Given the description of an element on the screen output the (x, y) to click on. 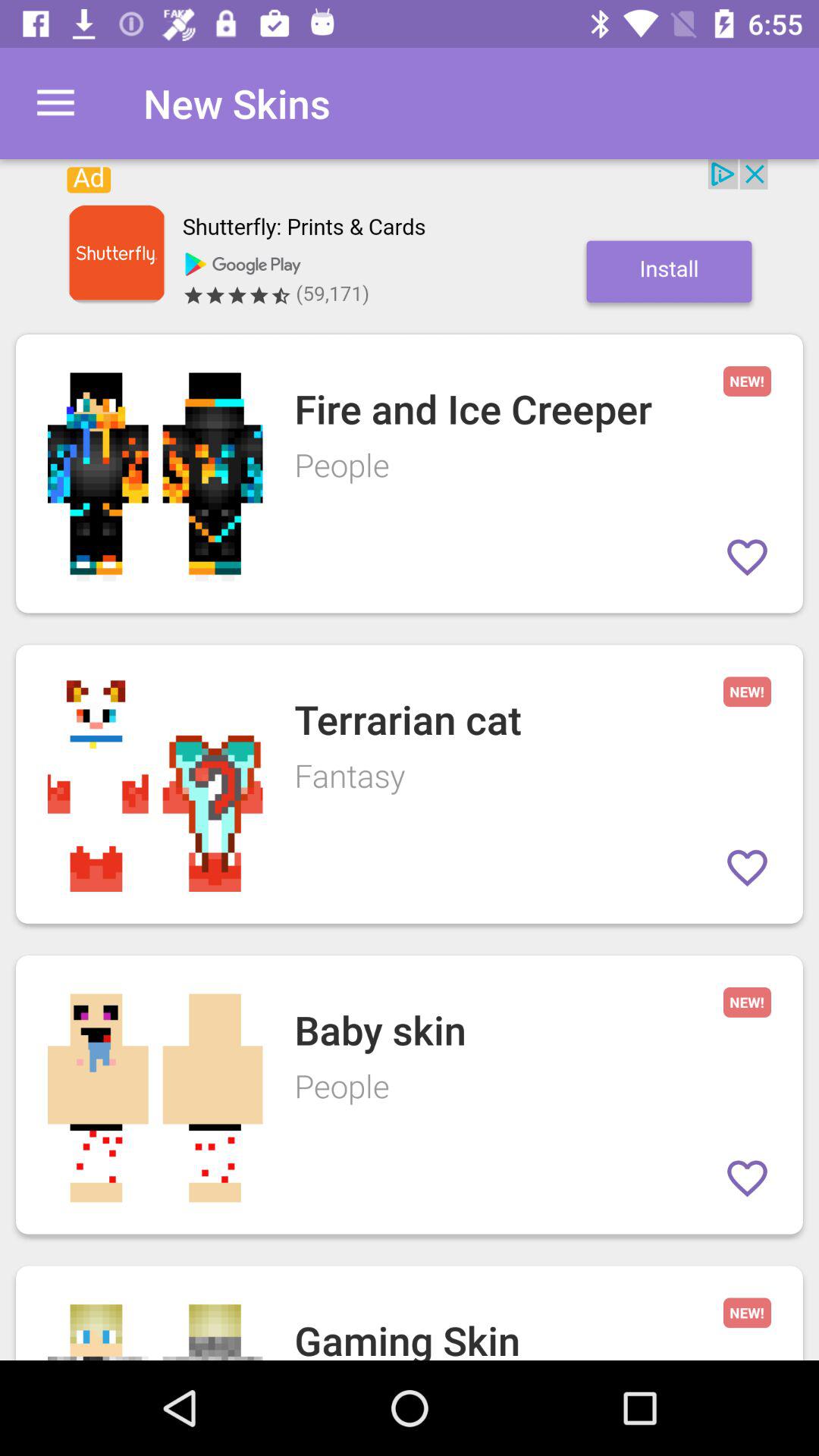
love this entry (747, 867)
